Given the description of an element on the screen output the (x, y) to click on. 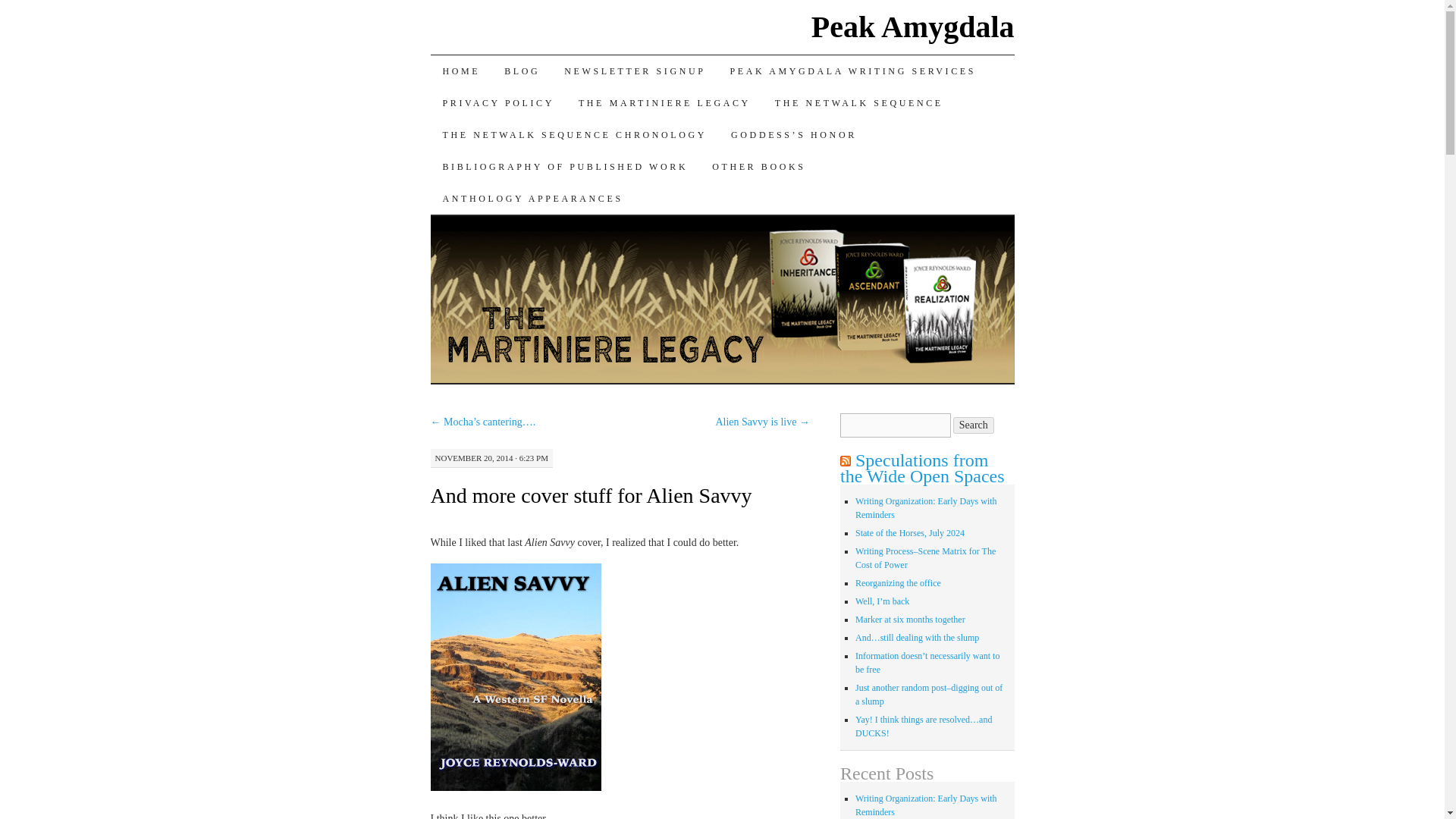
THE NETWALK SEQUENCE CHRONOLOGY (574, 134)
And more cover stuff for Alien Savvy (591, 495)
Writing Organization: Early Days with Reminders (926, 508)
Peak Amygdala (912, 26)
BIBLIOGRAPHY OF PUBLISHED WORK (565, 166)
Search (973, 425)
HOME (461, 70)
Speculations from the Wide Open Spaces (922, 468)
PRIVACY POLICY (498, 102)
PEAK AMYGDALA WRITING SERVICES (852, 70)
OTHER BOOKS (758, 166)
ANTHOLOGY APPEARANCES (532, 198)
BLOG (521, 70)
State of the Horses, July 2024 (909, 532)
NEWSLETTER SIGNUP (634, 70)
